Given the description of an element on the screen output the (x, y) to click on. 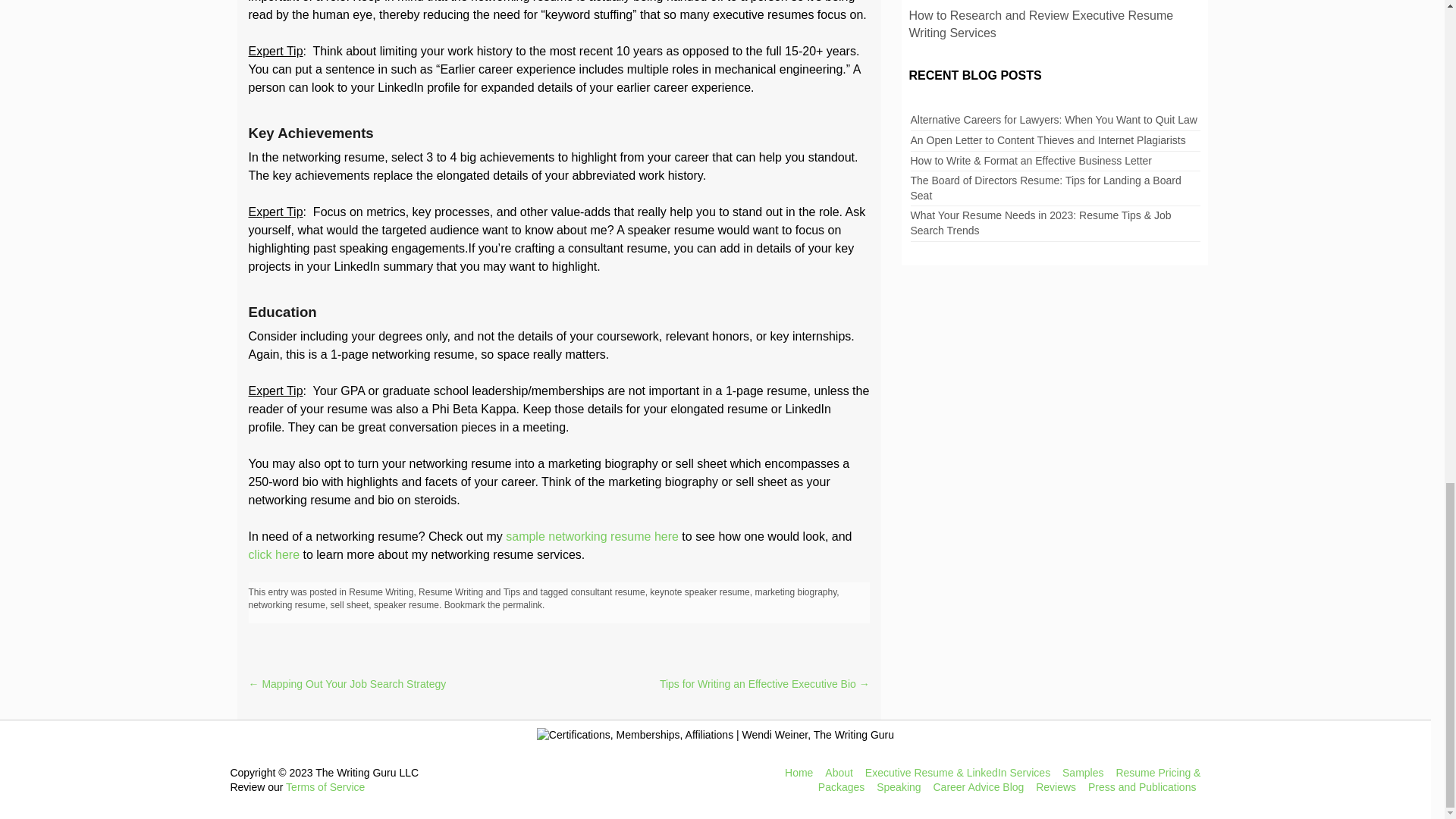
keynote speaker resume (699, 592)
click here (273, 554)
networking resume (286, 604)
sell sheet (349, 604)
permalink (521, 604)
sample networking resume here (591, 535)
Resume Writing and Tips (469, 592)
speaker resume (406, 604)
consultant resume (607, 592)
marketing biography (794, 592)
